Given the description of an element on the screen output the (x, y) to click on. 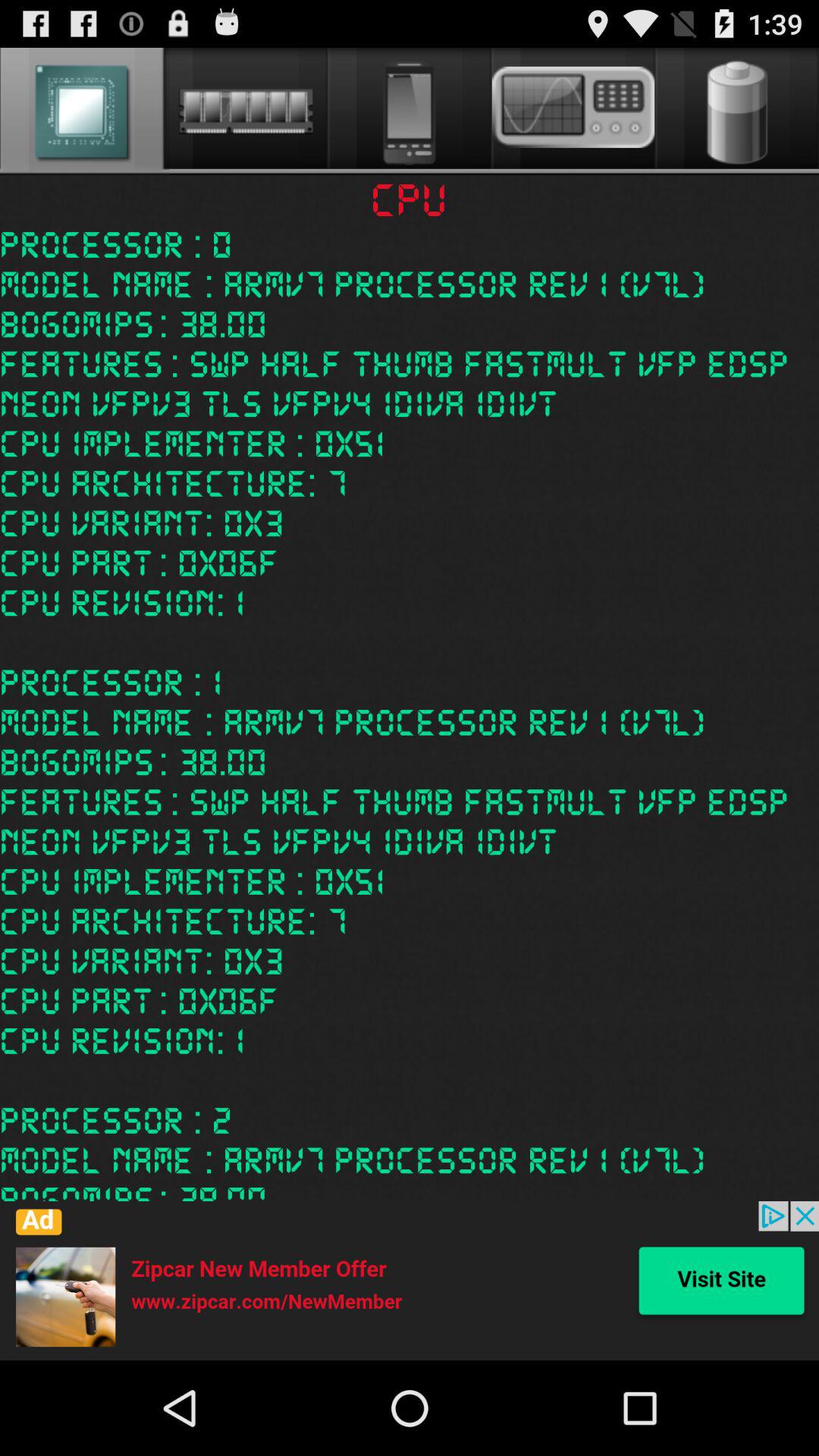
add icone (409, 1280)
